Given the description of an element on the screen output the (x, y) to click on. 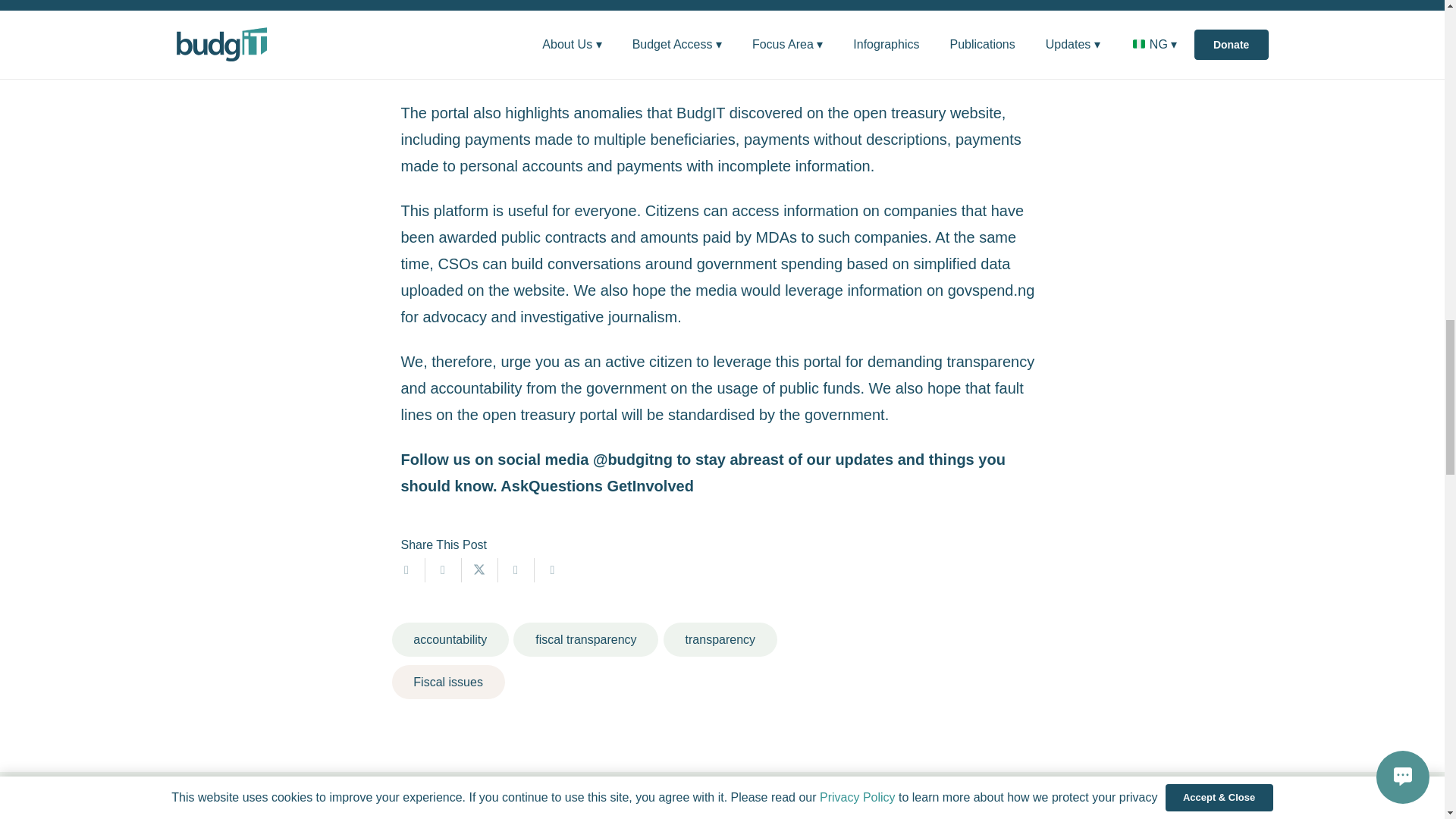
Share this (515, 569)
Share this (552, 569)
Email this (406, 569)
Tweet this (479, 569)
Share this (443, 569)
